Given the description of an element on the screen output the (x, y) to click on. 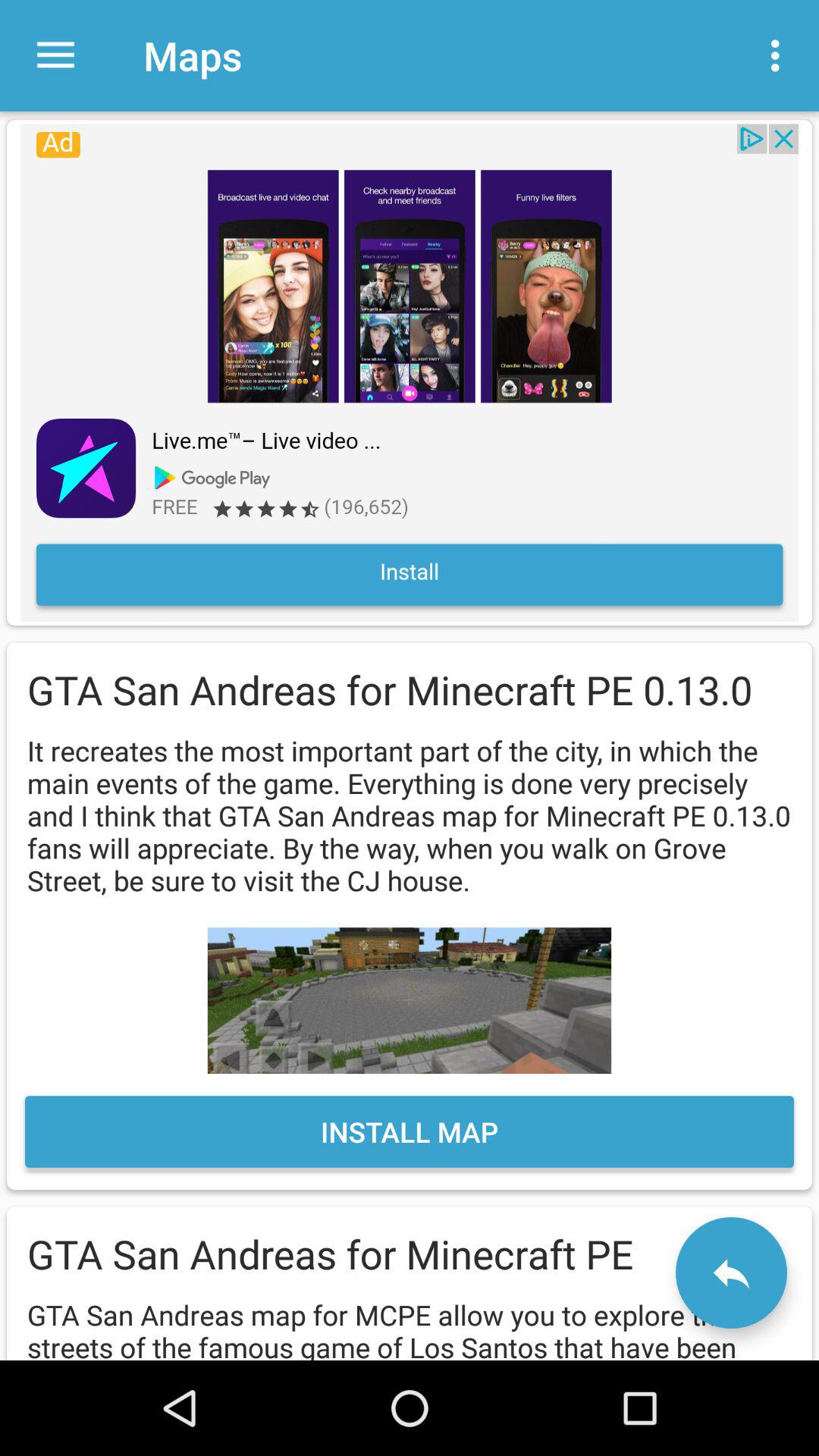
install app (409, 372)
